Given the description of an element on the screen output the (x, y) to click on. 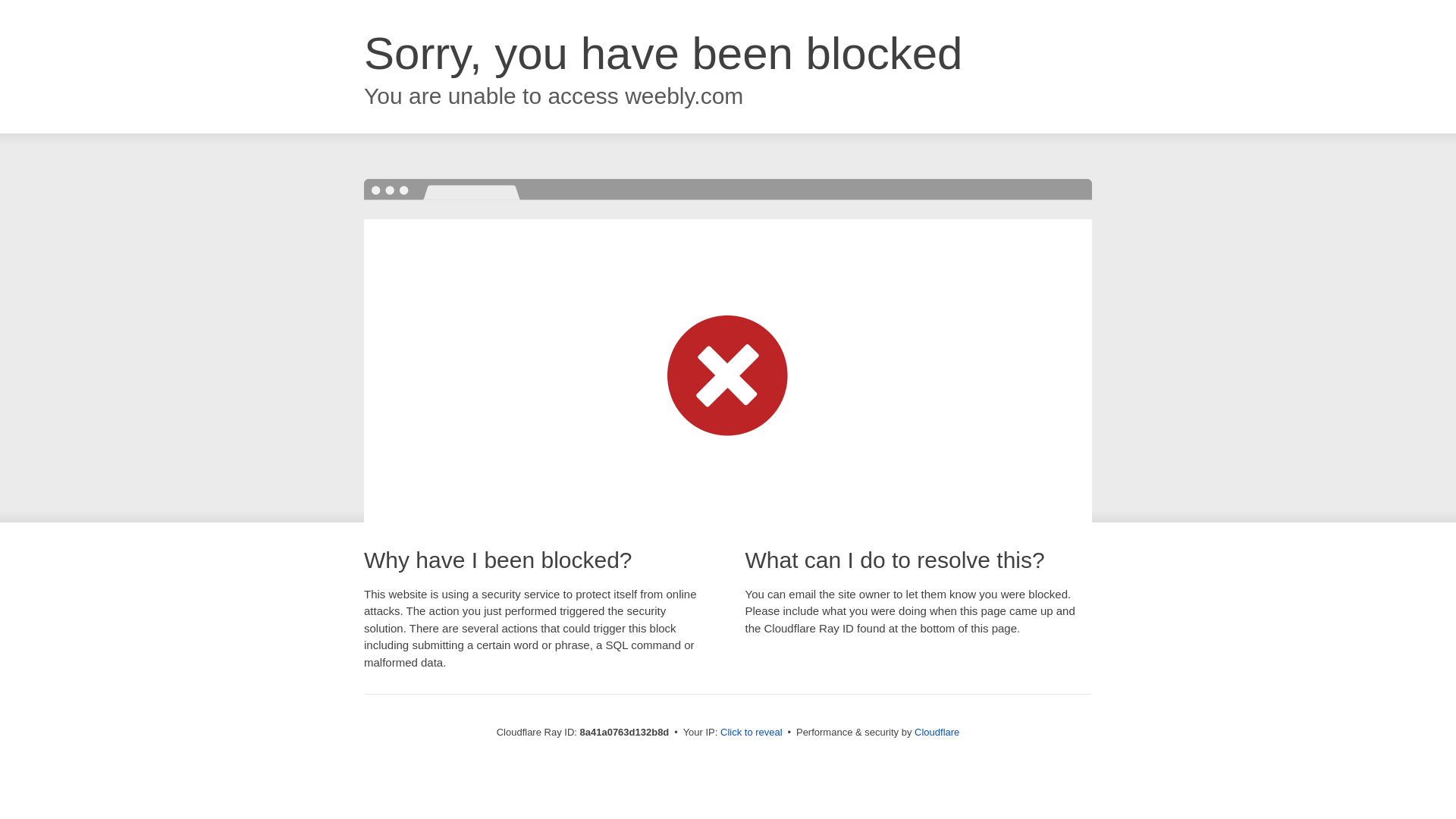
Click to reveal (751, 732)
Cloudflare (936, 731)
